Given the description of an element on the screen output the (x, y) to click on. 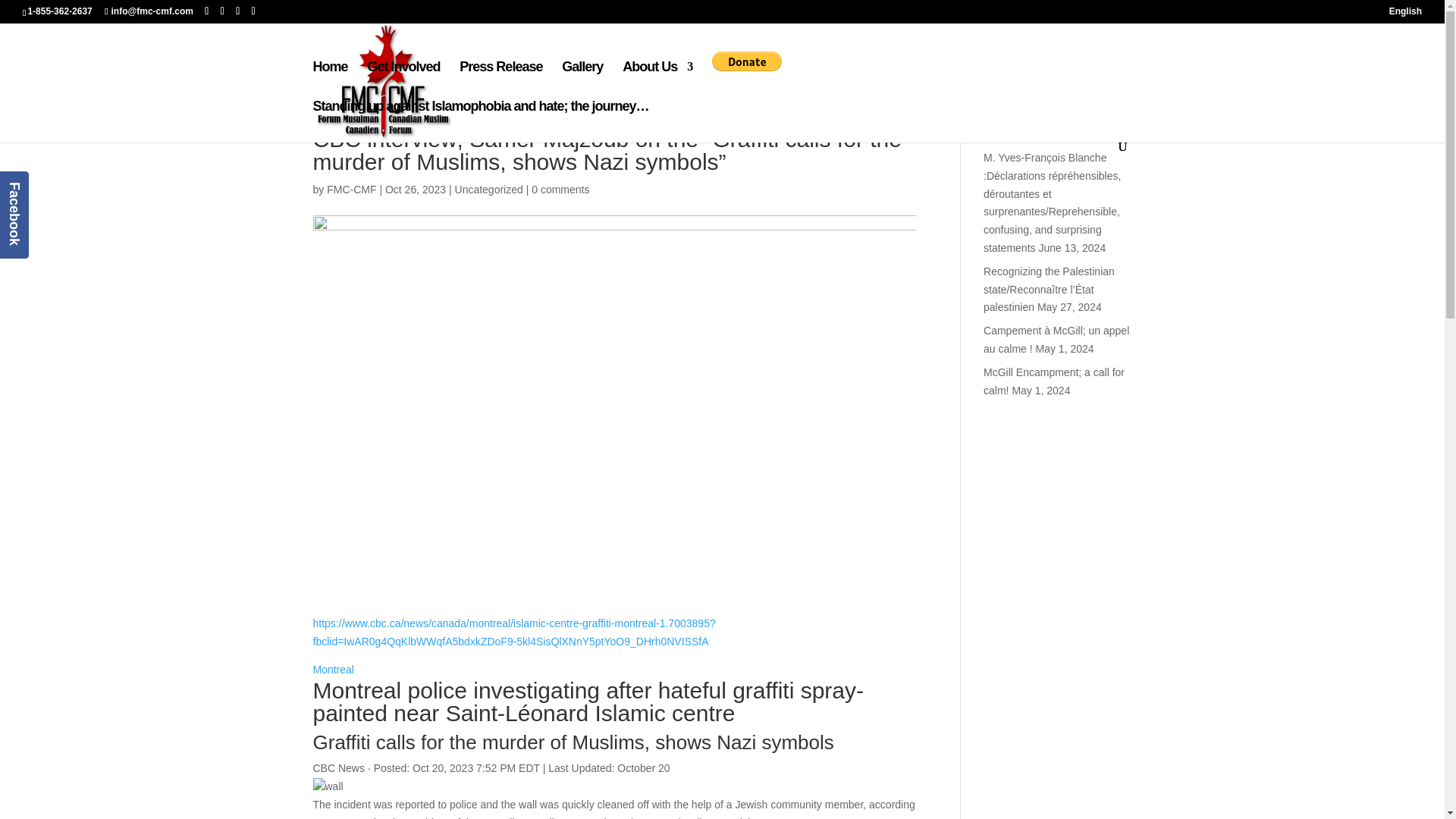
Gallery (582, 80)
About Us (658, 80)
Get Involved (402, 80)
McGill Encampment; a call for calm! (1054, 381)
English (1405, 14)
Posts by FMC-CMF (350, 189)
0 comments (560, 189)
Uncategorized (488, 189)
English (1405, 14)
Press Release (500, 80)
FMC-CMF (350, 189)
Montreal (333, 669)
